Given the description of an element on the screen output the (x, y) to click on. 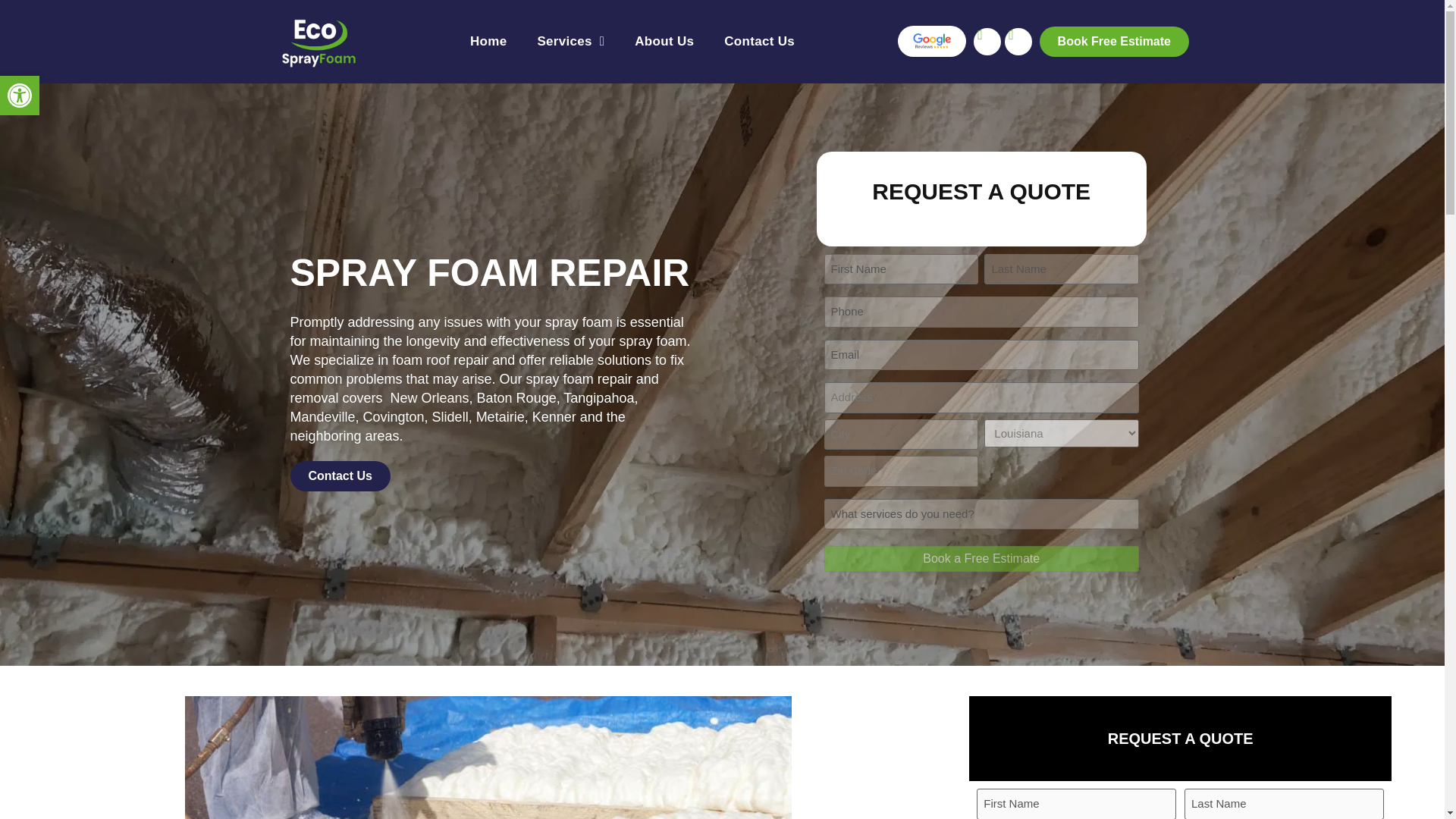
Book Free Estimate (1114, 41)
Services (570, 41)
What services do you need? (981, 513)
Last Name (1061, 269)
Accessibility Tools (19, 95)
Home (19, 95)
Decrease Text (487, 41)
High Contrast (981, 558)
